Given the description of an element on the screen output the (x, y) to click on. 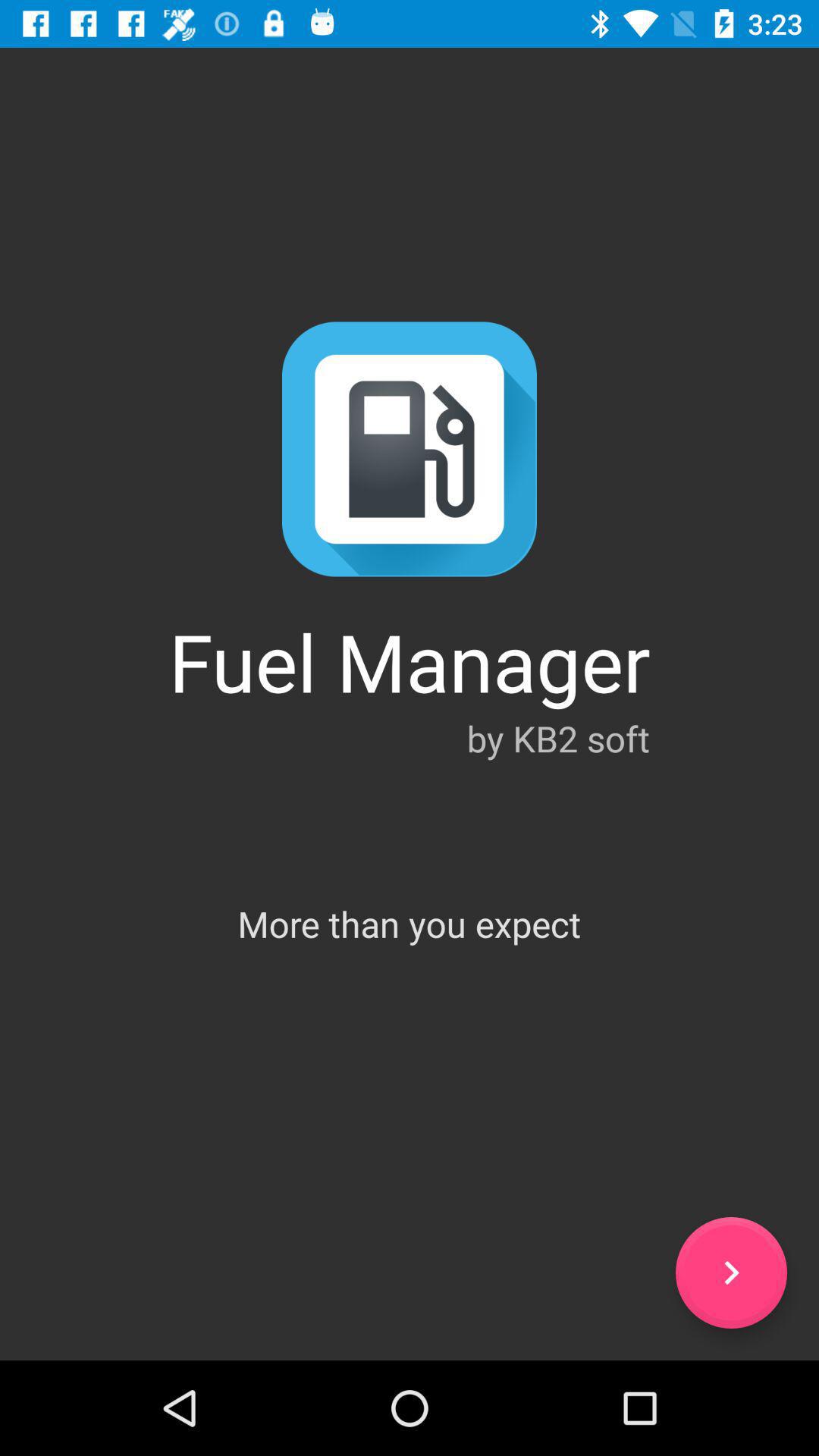
select icon at the bottom right corner (731, 1272)
